Given the description of an element on the screen output the (x, y) to click on. 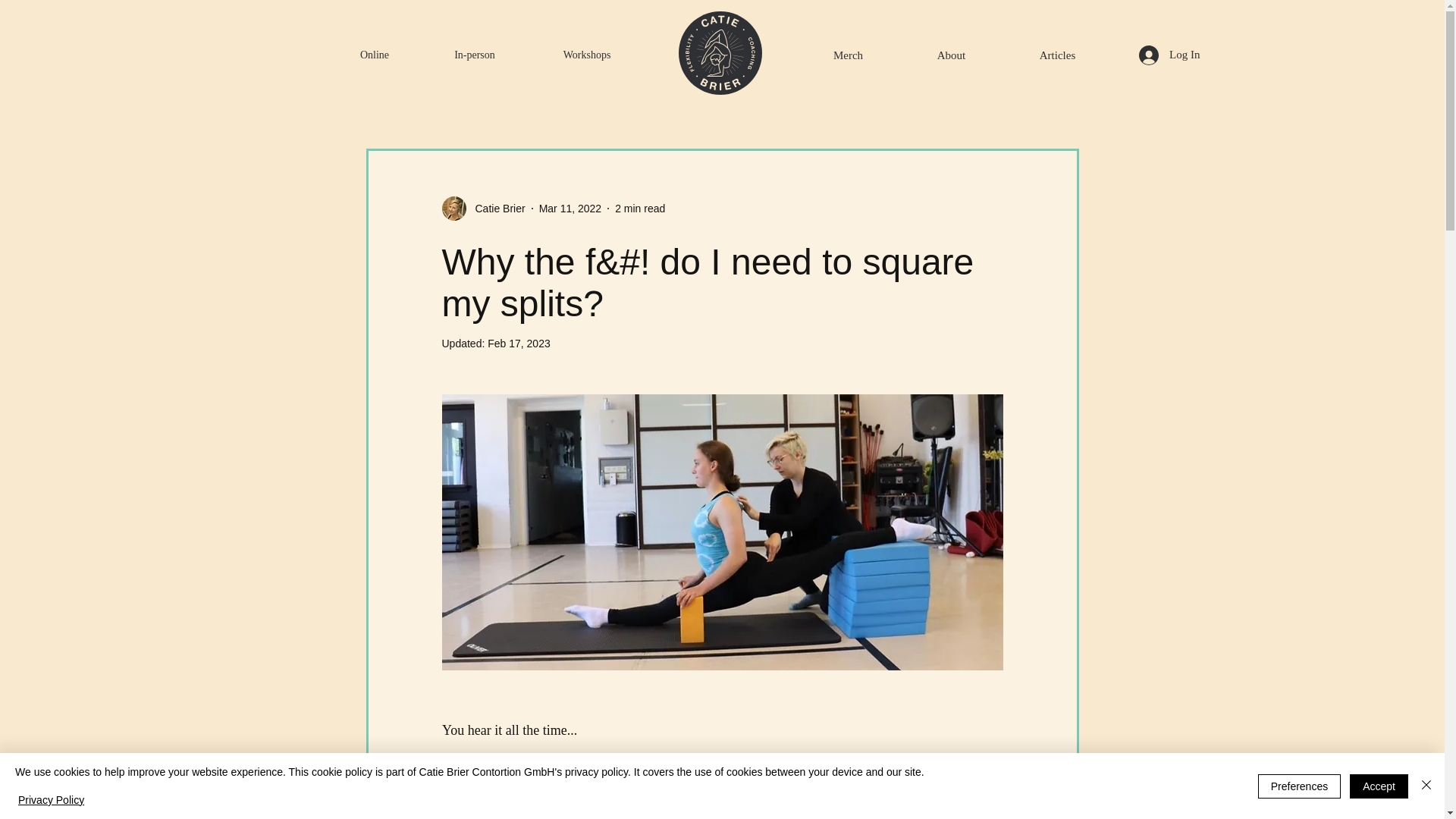
Articles (1057, 48)
In-person (474, 48)
Log In (1168, 54)
Catie Brier (482, 208)
About (951, 48)
2 min read (639, 208)
Catie Brier (494, 208)
Merch (847, 48)
Workshops (587, 48)
Mar 11, 2022 (570, 208)
